Given the description of an element on the screen output the (x, y) to click on. 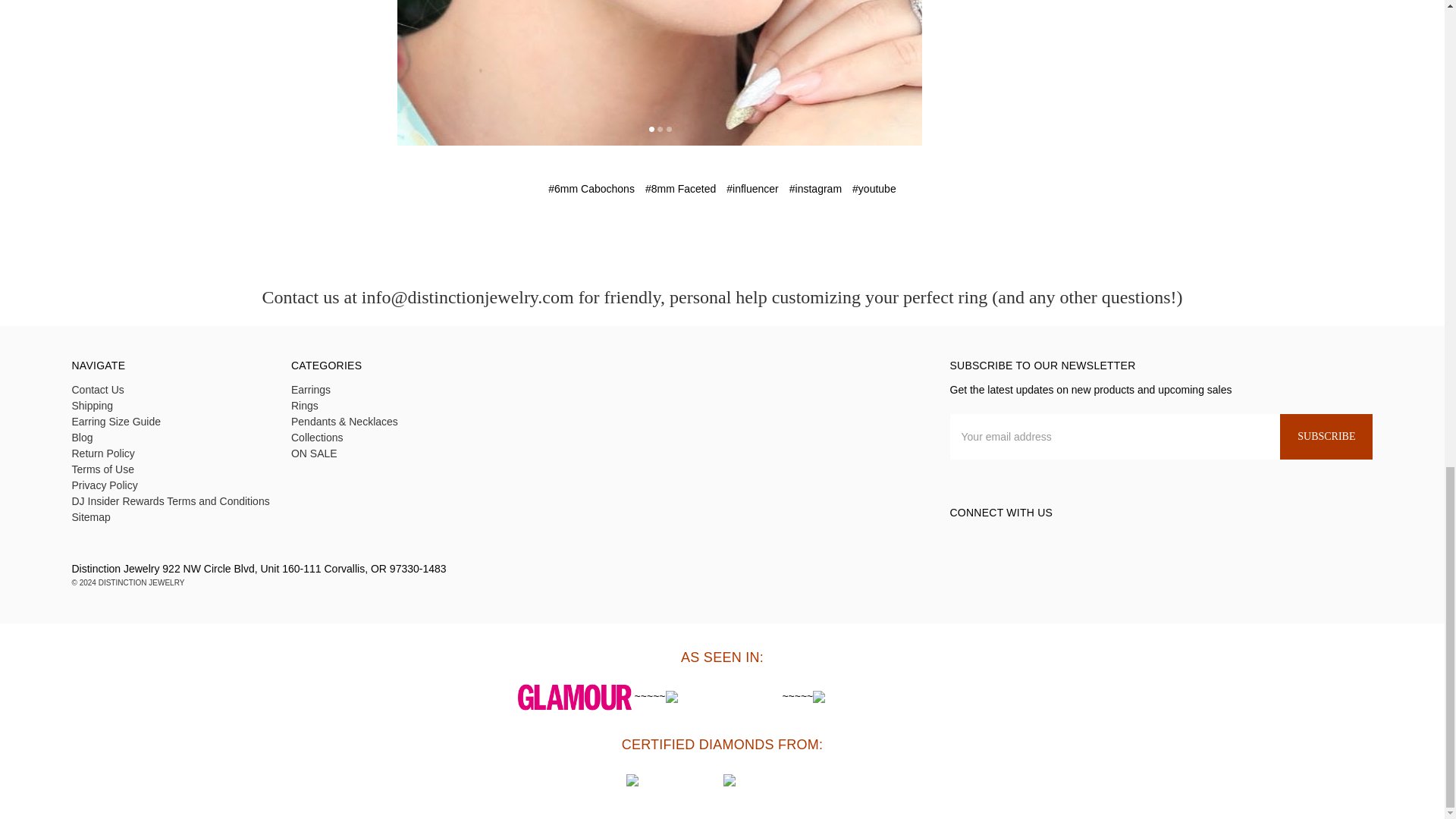
Facebook (667, 233)
Print (720, 233)
Pinterest (775, 233)
Twitter (746, 233)
Subscribe (1326, 436)
Email (693, 233)
